Given the description of an element on the screen output the (x, y) to click on. 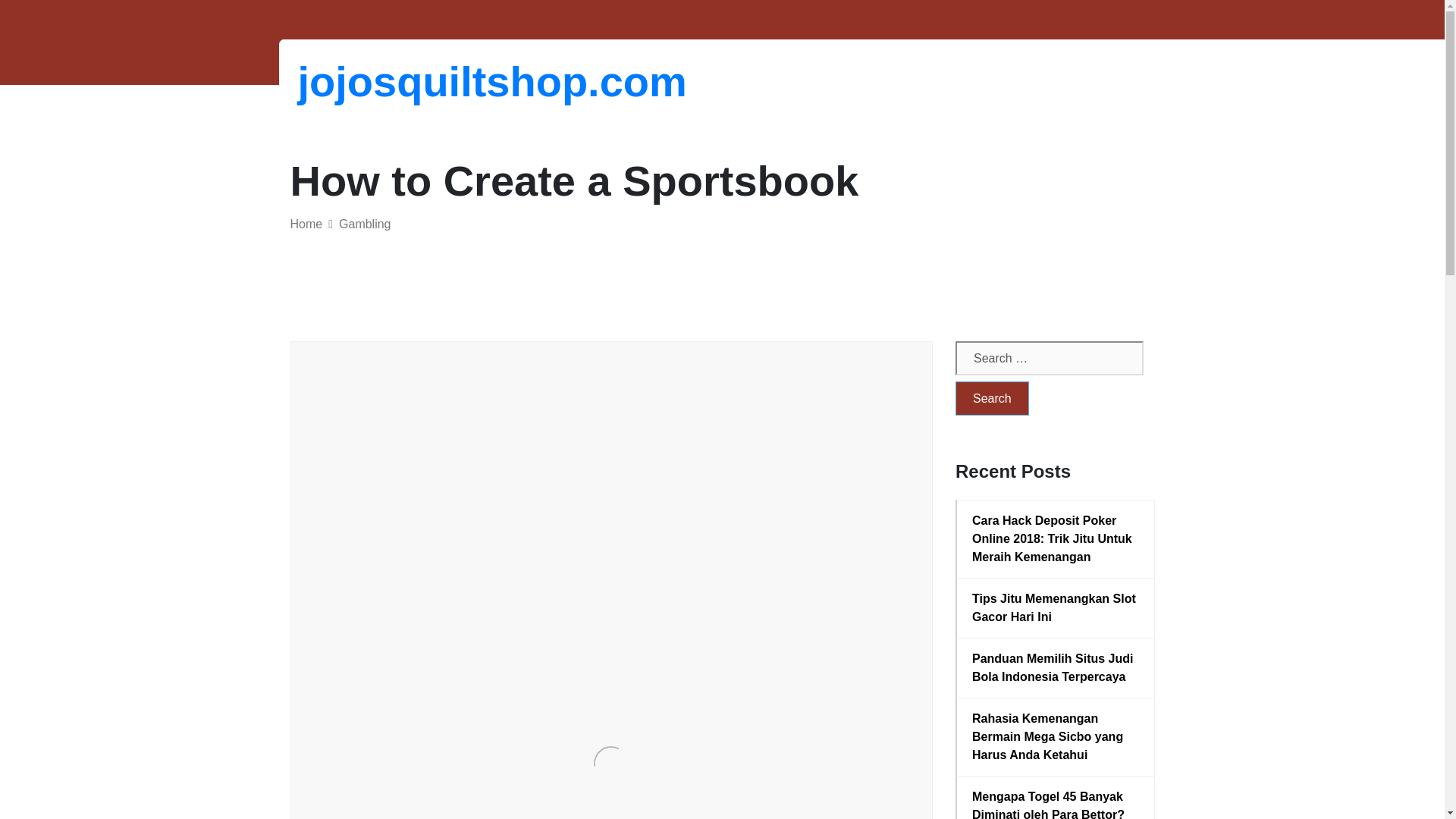
Home (305, 223)
Panduan Memilih Situs Judi Bola Indonesia Terpercaya (1055, 668)
Search (992, 398)
Tips Jitu Memenangkan Slot Gacor Hari Ini (1055, 607)
Search (992, 398)
How to Create a Sportsbook (508, 423)
Gambling (364, 223)
Search (992, 398)
